Given the description of an element on the screen output the (x, y) to click on. 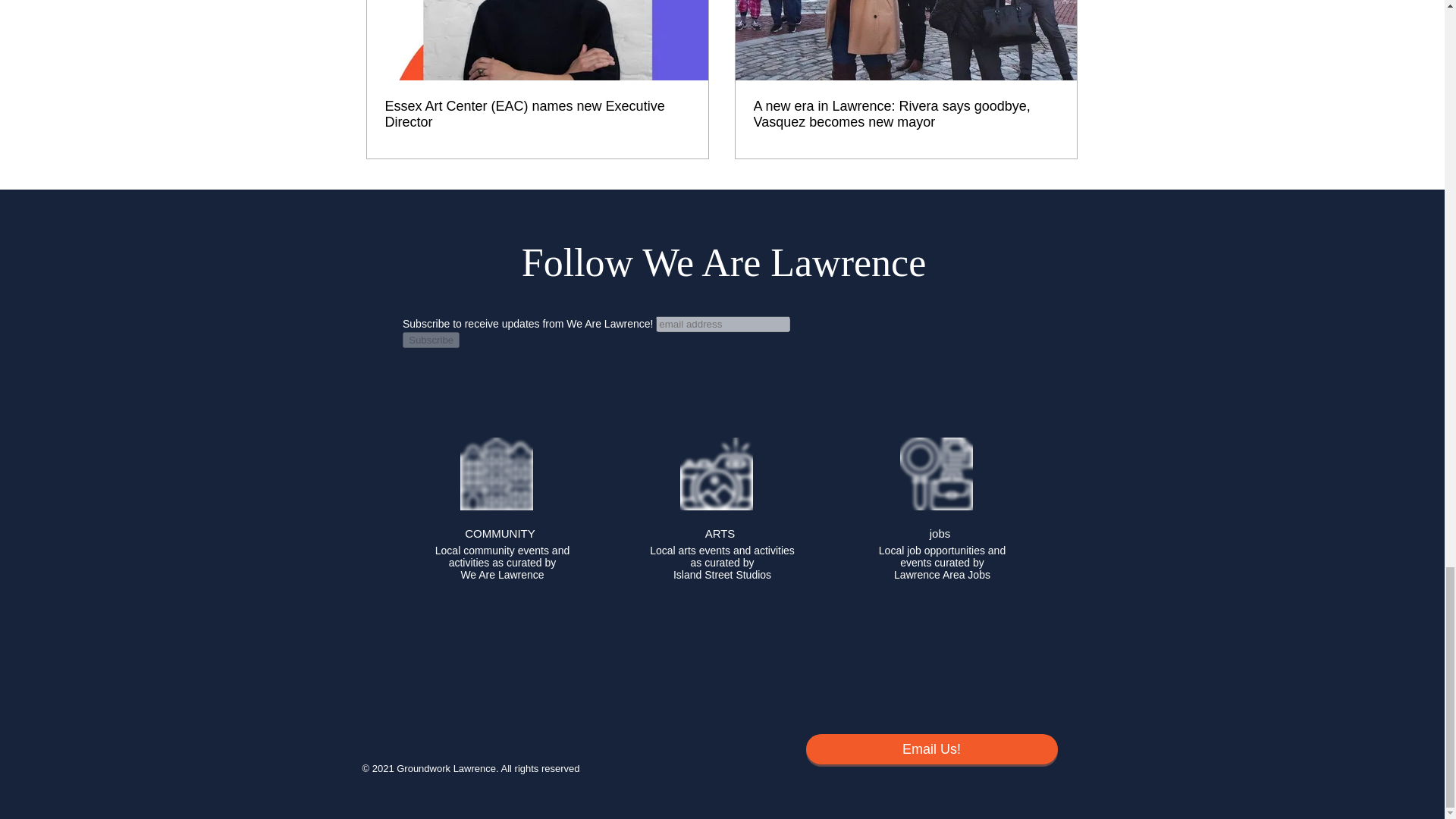
Embedded Content (721, 355)
